Given the description of an element on the screen output the (x, y) to click on. 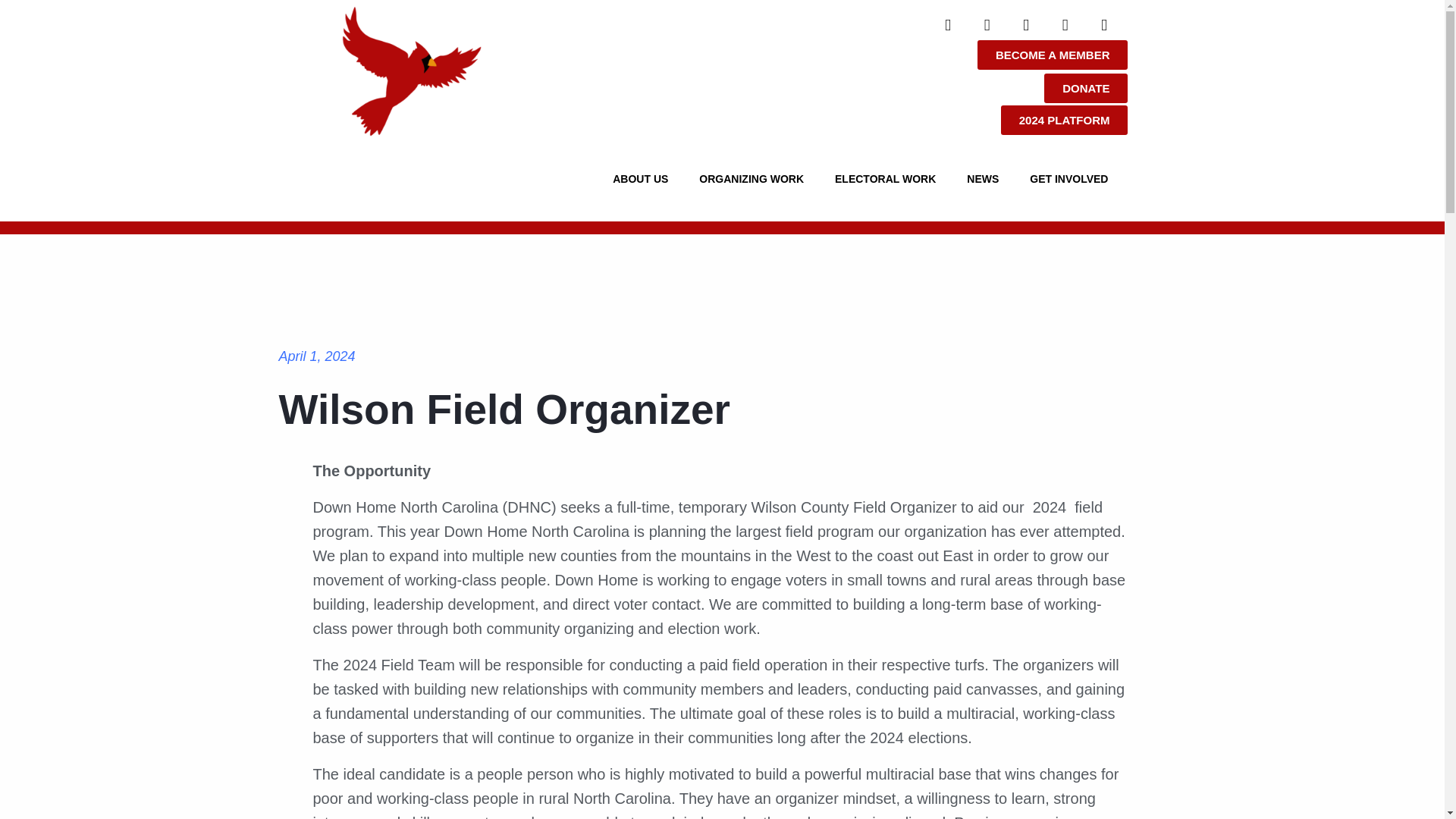
GET INVOLVED (1071, 179)
2024 PLATFORM (1064, 120)
NEWS (986, 179)
April 1, 2024 (317, 355)
ORGANIZING WORK (755, 179)
ELECTORAL WORK (889, 179)
ABOUT US (644, 179)
BECOME A MEMBER (1052, 54)
DONATE (1084, 88)
